Given the description of an element on the screen output the (x, y) to click on. 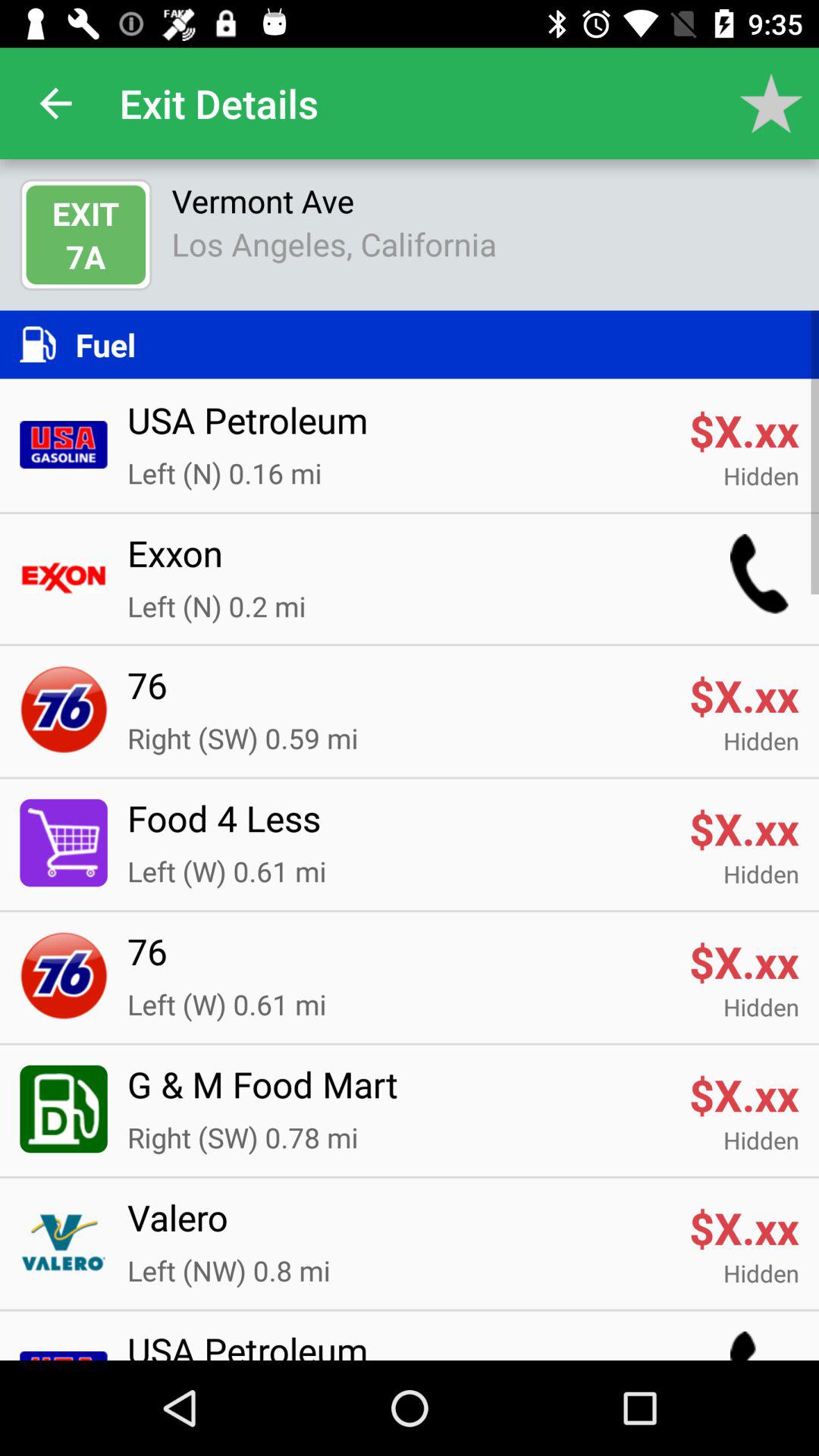
turn on item next to the $x.xx icon (398, 827)
